Given the description of an element on the screen output the (x, y) to click on. 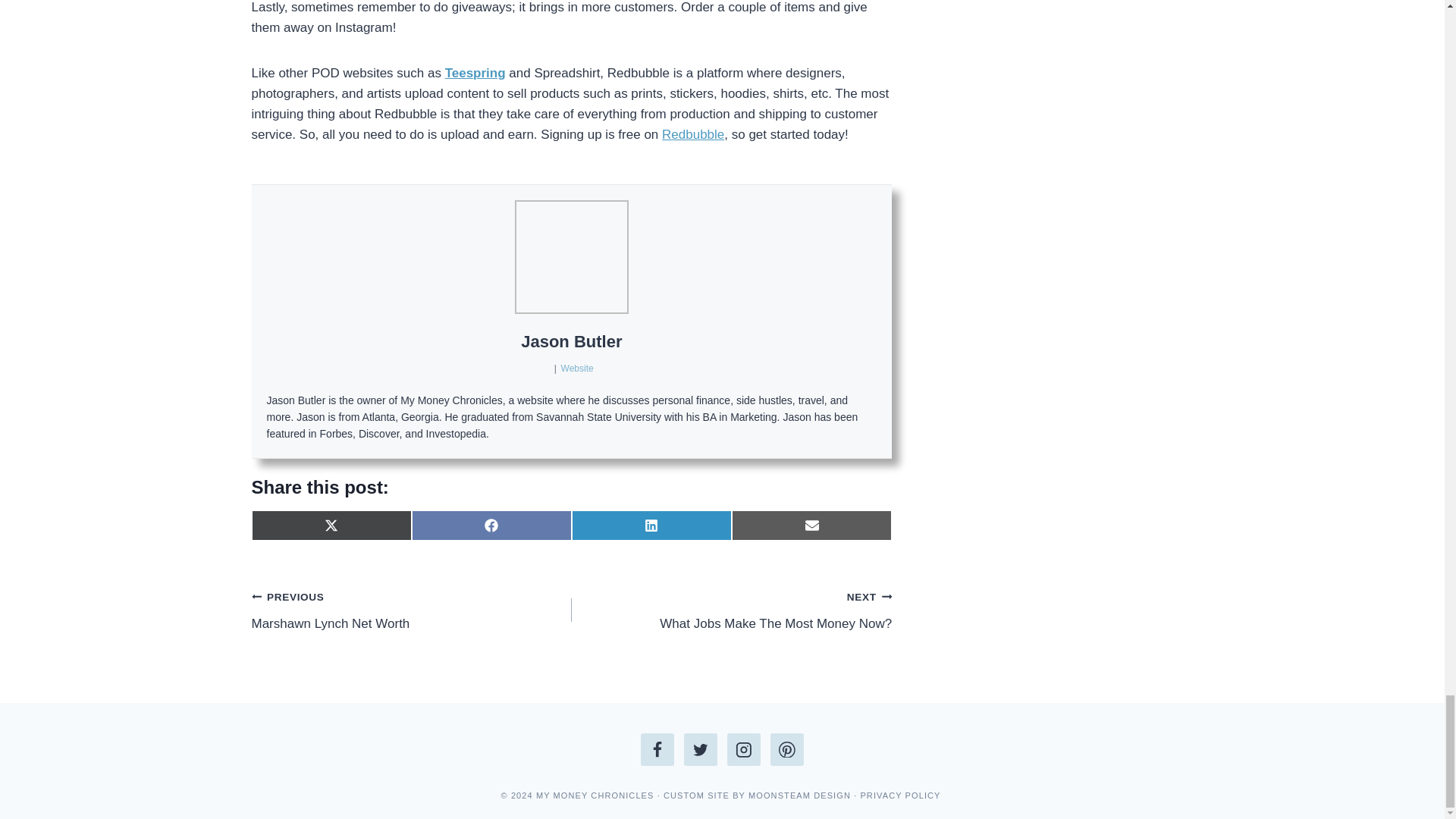
Redbubble (692, 134)
Teespring (475, 73)
